Given the description of an element on the screen output the (x, y) to click on. 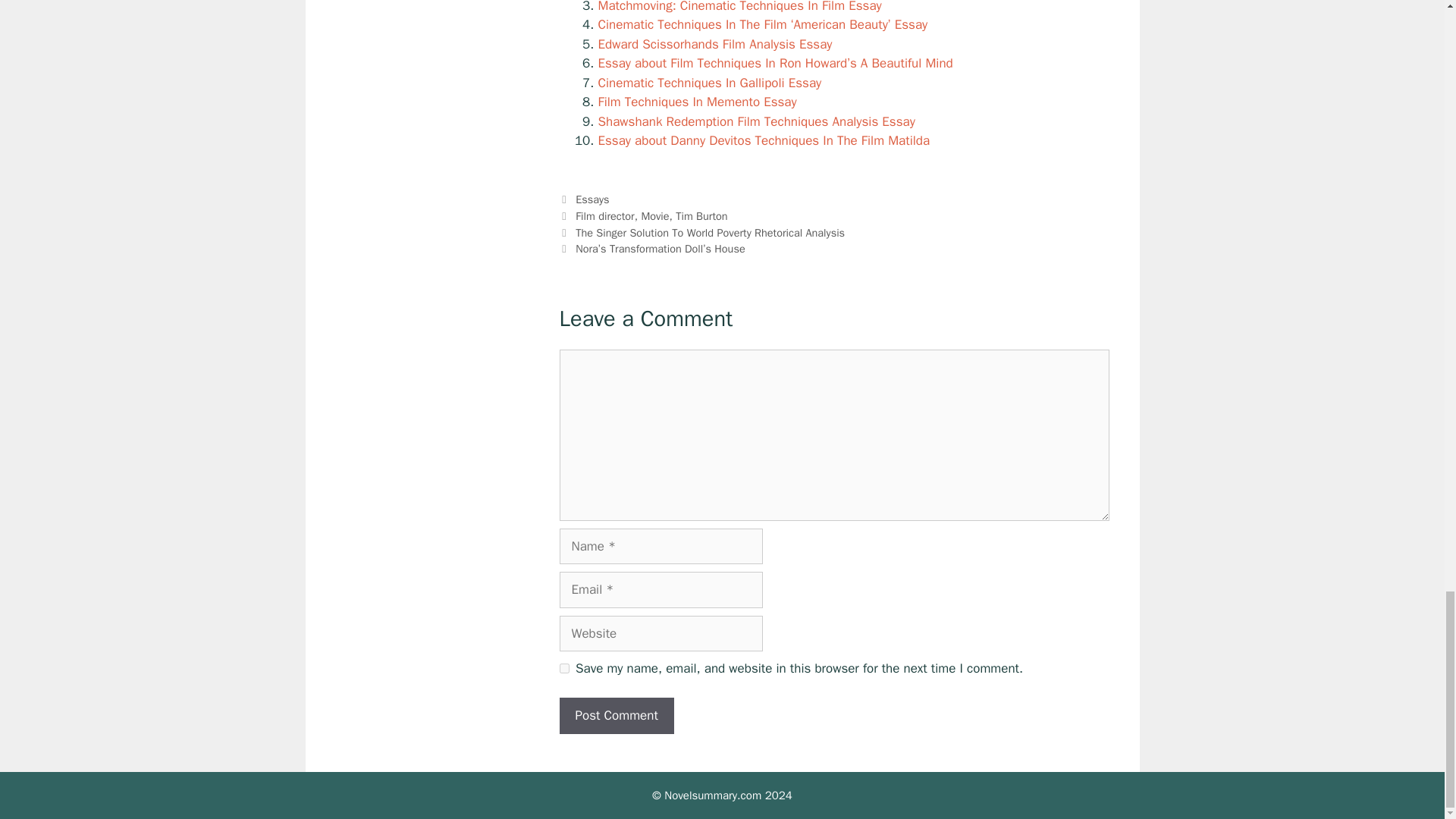
Cinematic Techniques In Gallipoli Essay (708, 82)
Shawshank Redemption Film Techniques Analysis Essay (755, 121)
The Singer Solution To World Poverty Rhetorical Analysis (709, 232)
Cinematic Techniques In Gallipoli Essay (708, 82)
Film Techniques In Memento Essay (696, 101)
Essay about Danny Devitos Techniques In The Film Matilda (763, 140)
Matchmoving: Cinematic Techniques In Film Essay (738, 6)
Essay about Danny Devitos Techniques In The Film Matilda (763, 140)
Tim Burton (700, 215)
Movie (654, 215)
Essays (591, 199)
Previous (702, 232)
Edward Scissorhands Film Analysis Essay (713, 44)
Shawshank Redemption Film Techniques Analysis Essay (755, 121)
Post Comment (616, 715)
